Given the description of an element on the screen output the (x, y) to click on. 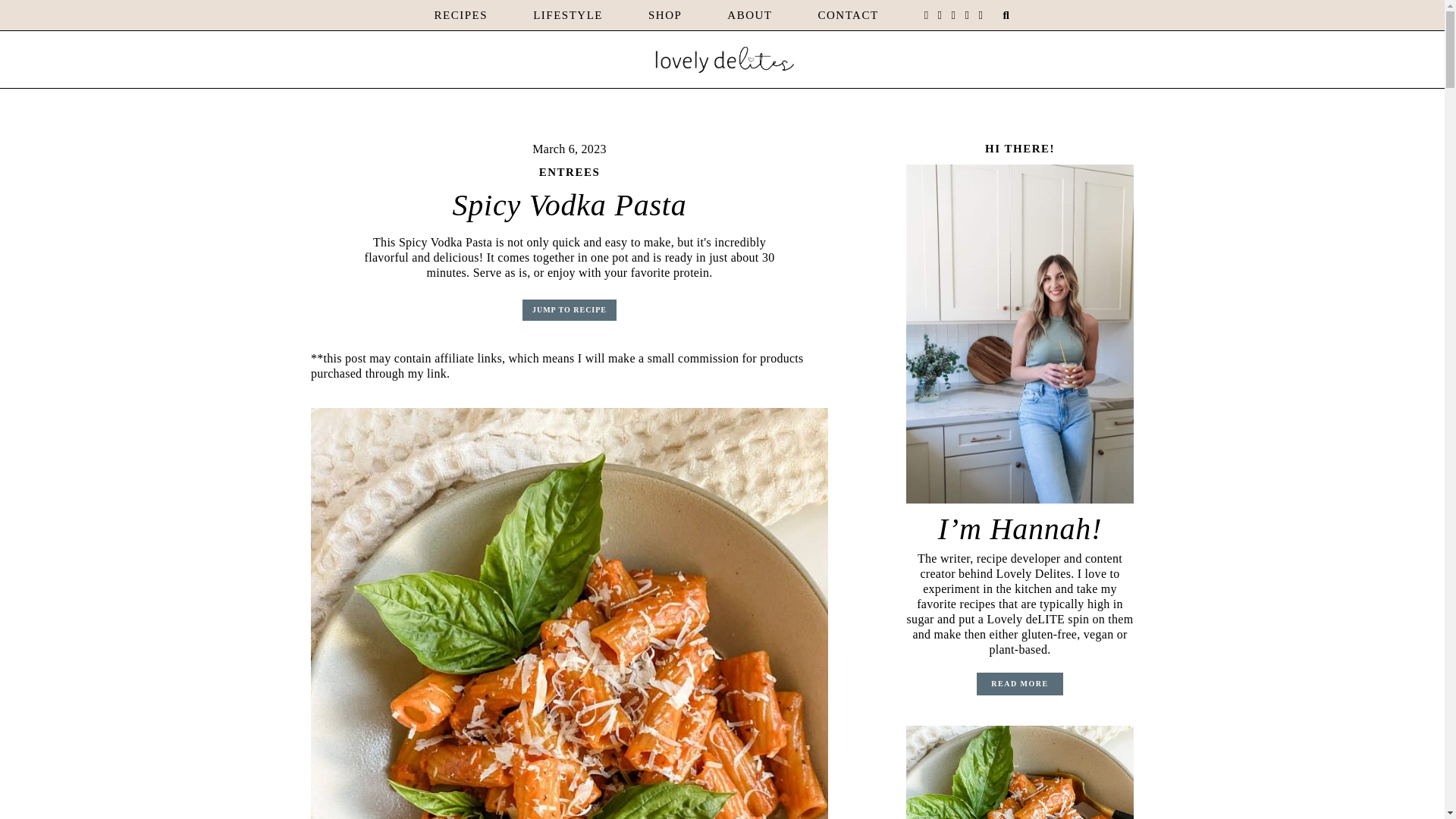
Pin This Recipe (1019, 772)
SHOP (664, 15)
JUMP TO RECIPE (568, 310)
READ MORE (1019, 683)
ABOUT (748, 15)
RECIPES (460, 15)
CONTACT (846, 15)
LIFESTYLE (567, 15)
